Given the description of an element on the screen output the (x, y) to click on. 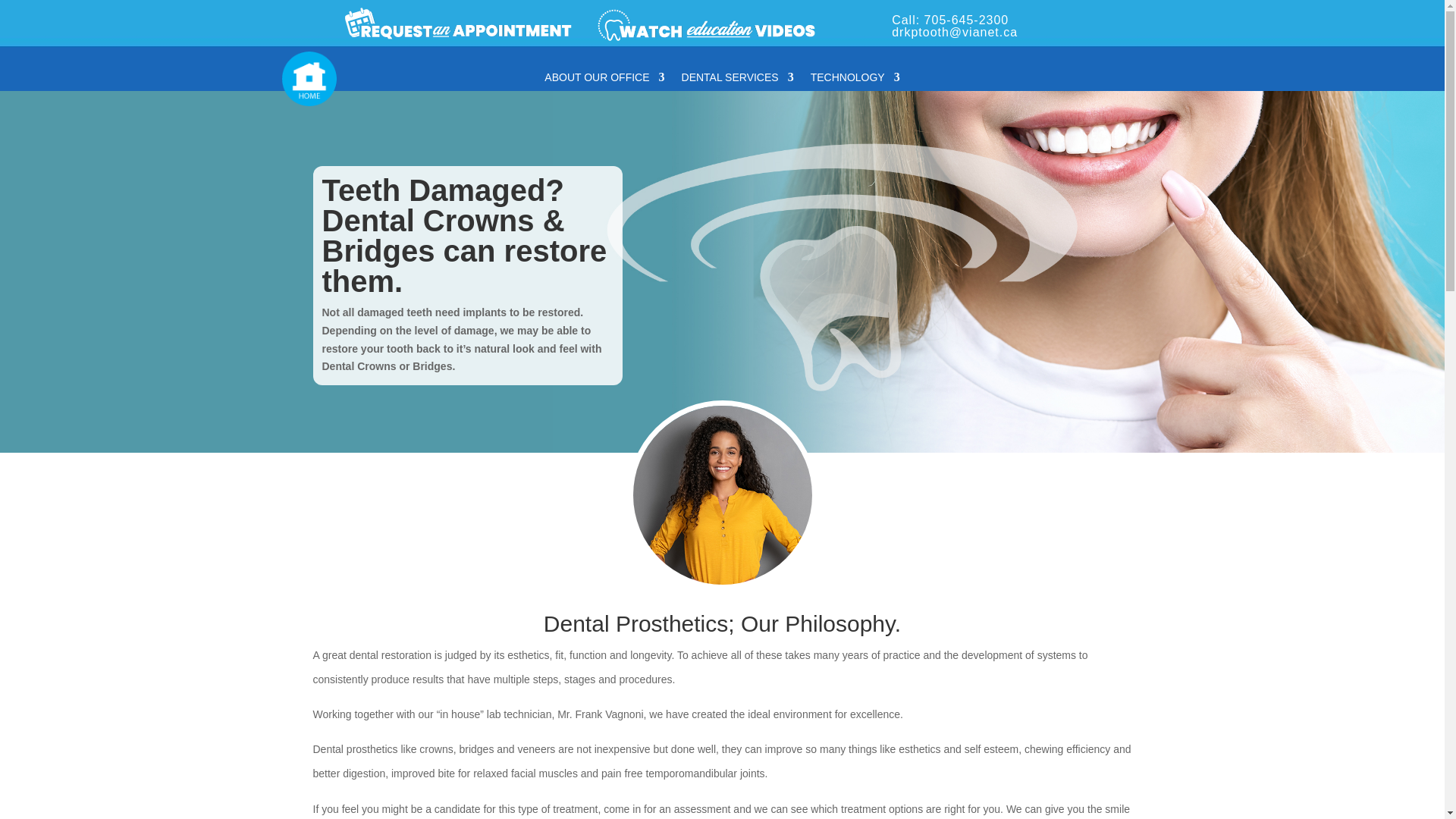
trans-watchvideos (715, 22)
trans-request-appointment (455, 22)
DENTAL SERVICES (737, 80)
ABOUT OUR OFFICE (603, 80)
home (308, 79)
TECHNOLOGY (854, 80)
crowns-bridges-intro (720, 494)
